Given the description of an element on the screen output the (x, y) to click on. 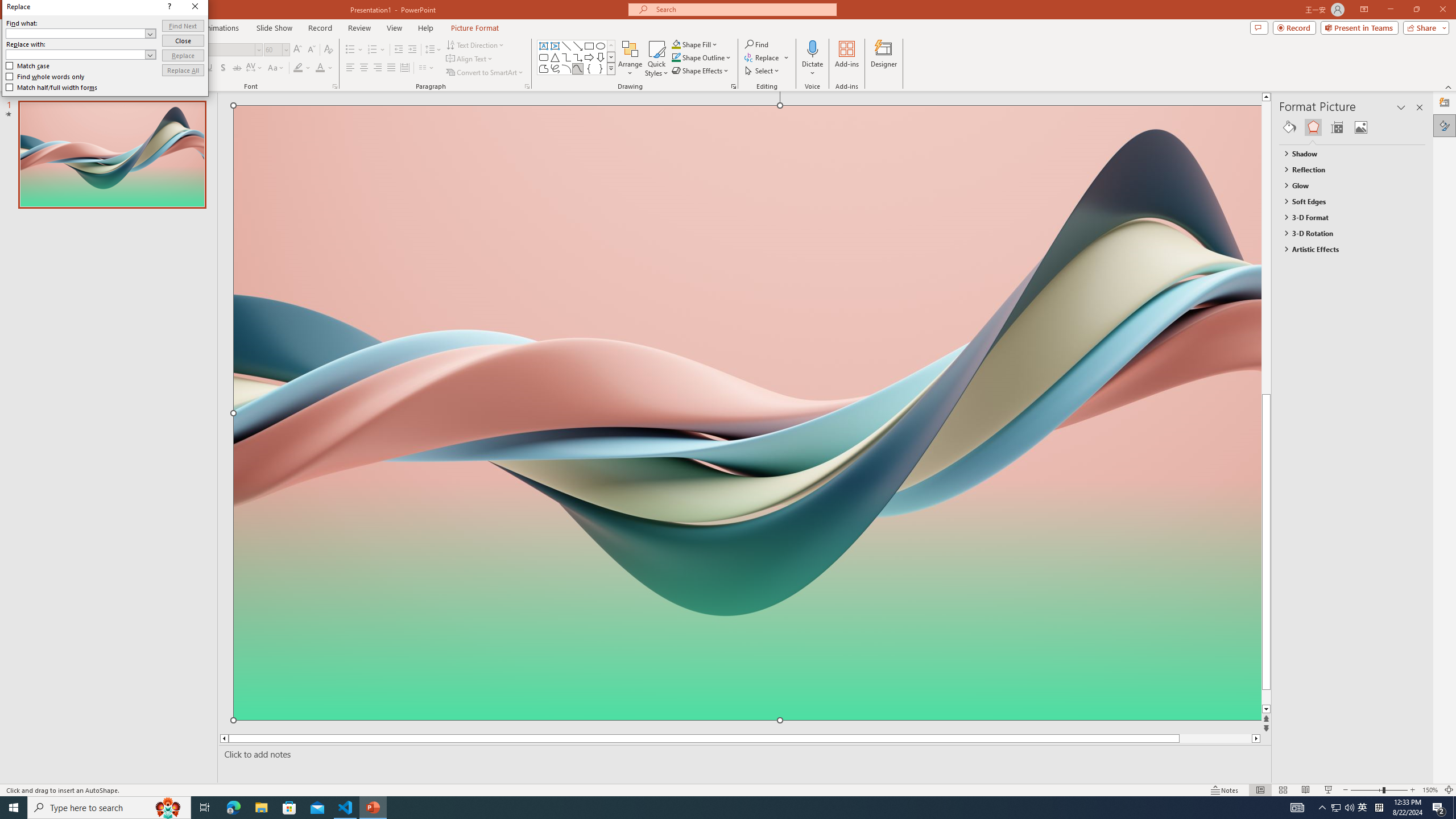
3-D Rotation (1347, 232)
Replace All (183, 69)
